Given the description of an element on the screen output the (x, y) to click on. 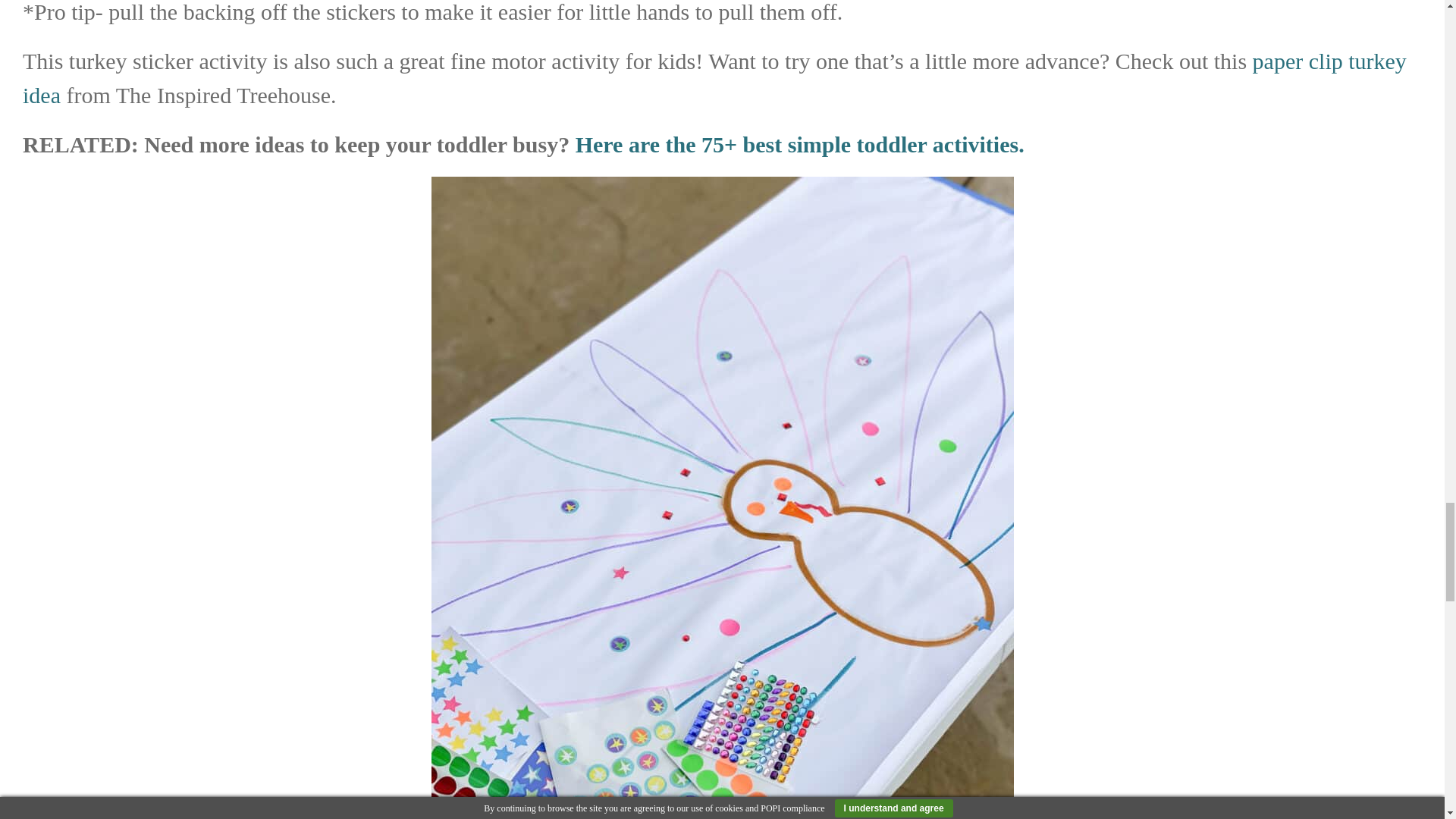
paper clip turkey idea (714, 77)
